Given the description of an element on the screen output the (x, y) to click on. 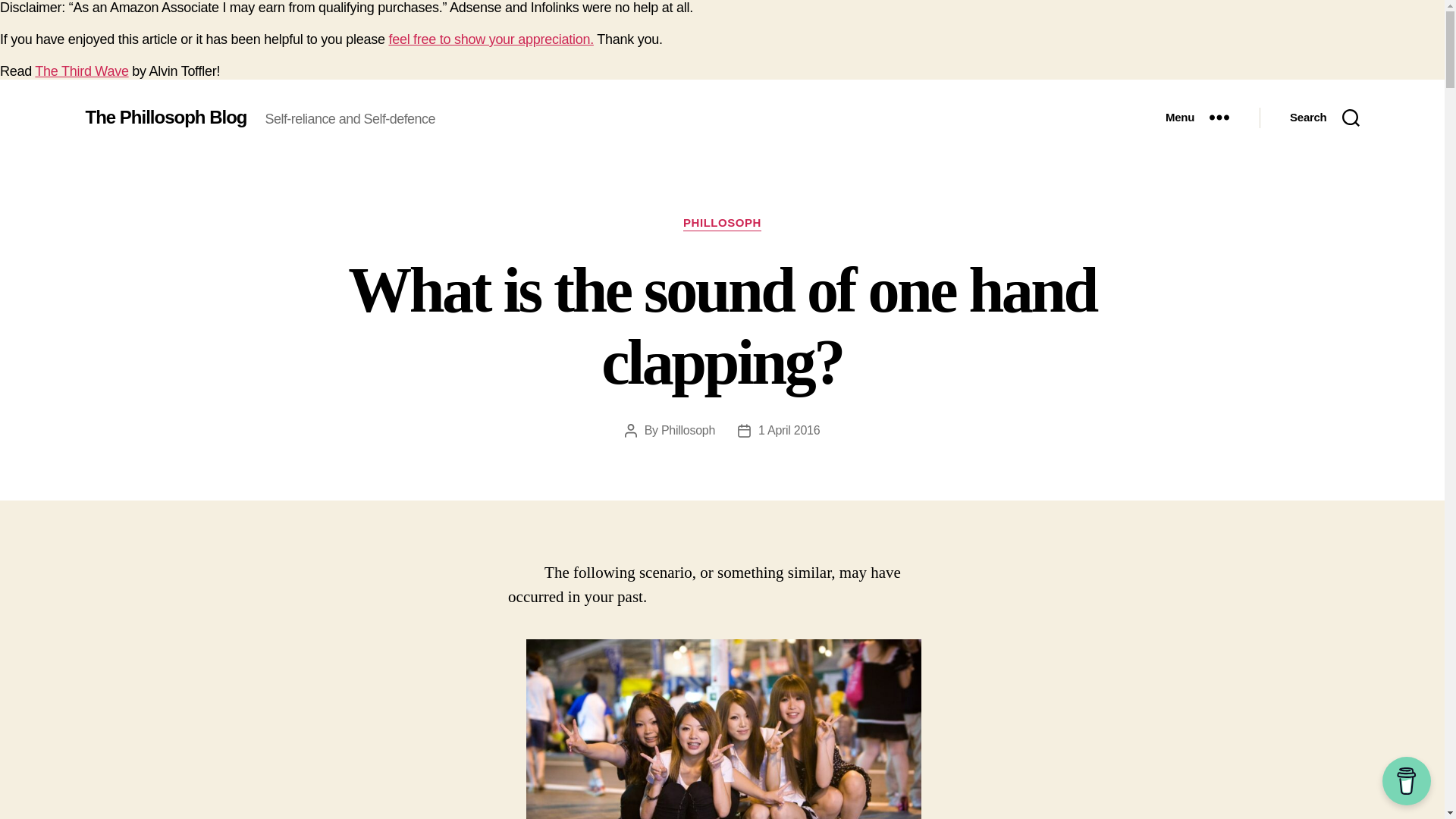
Search (1324, 117)
The Third Wave (81, 70)
The Phillosoph Blog (165, 116)
Menu (1197, 117)
feel free to show your appreciation. (490, 38)
